Given the description of an element on the screen output the (x, y) to click on. 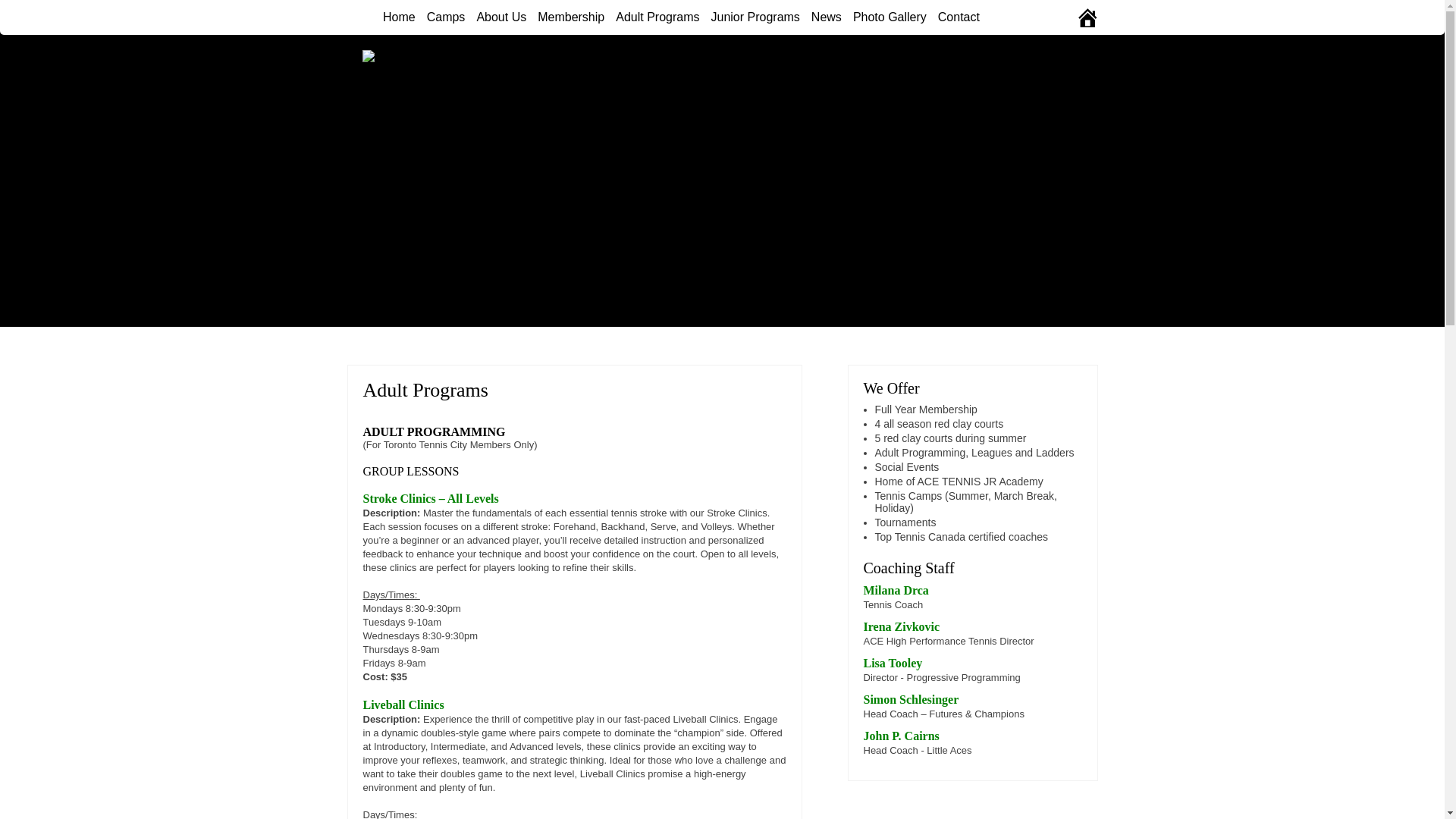
Adult Programs (651, 17)
Home (392, 17)
Lisa Tooley (892, 662)
Contact (952, 17)
John P. Cairns (901, 735)
Simon Schlesinger (910, 698)
Junior Programs (748, 17)
Camps (439, 17)
News (820, 17)
